Given the description of an element on the screen output the (x, y) to click on. 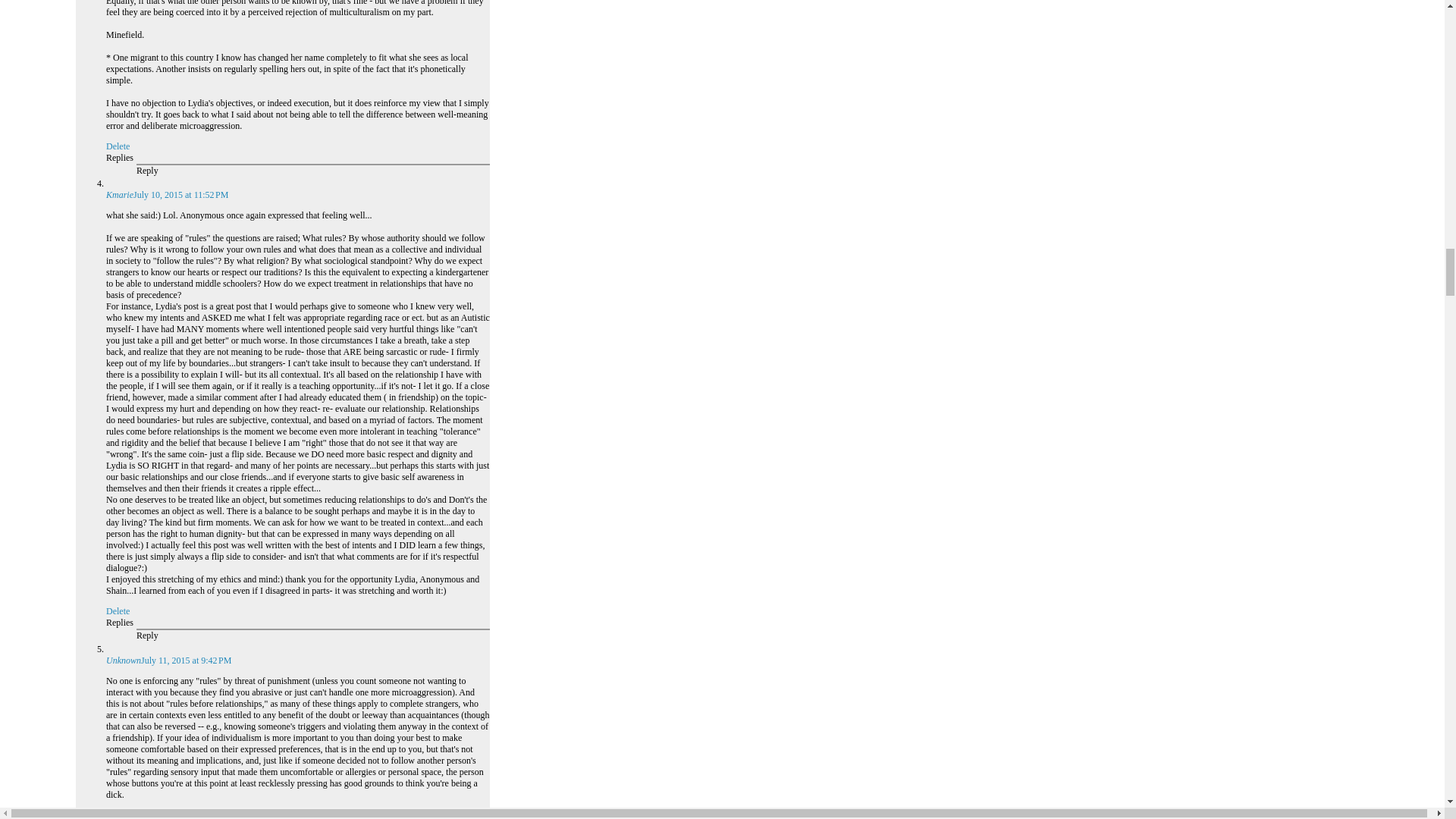
Delete (117, 611)
Reply (147, 170)
Kmarie (119, 194)
Reply (147, 634)
Replies (119, 622)
Replies (119, 157)
Delete (117, 814)
Unknown (123, 660)
Delete (117, 145)
